Given the description of an element on the screen output the (x, y) to click on. 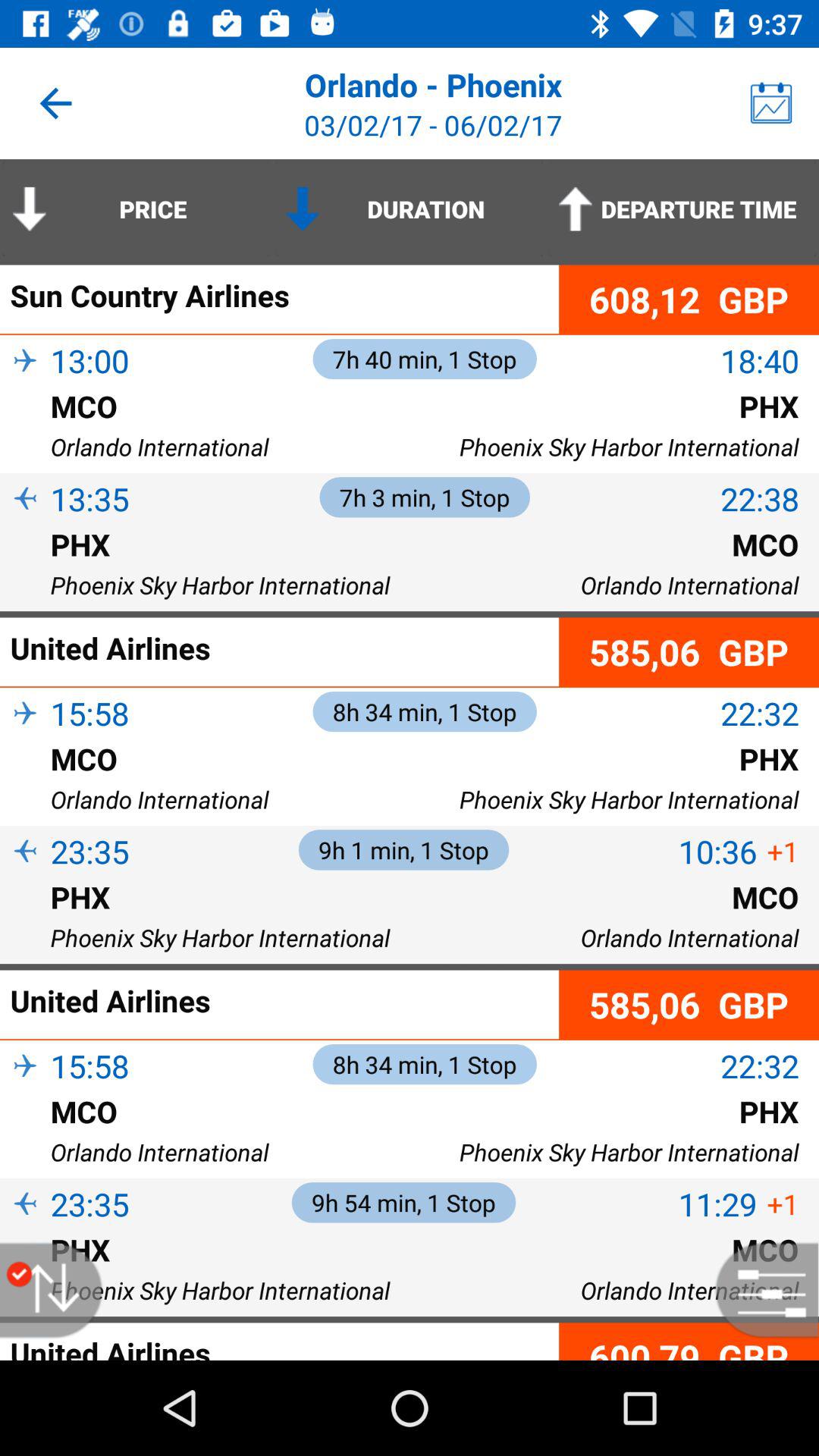
turn on icon next to the 23:35 (25, 1229)
